Given the description of an element on the screen output the (x, y) to click on. 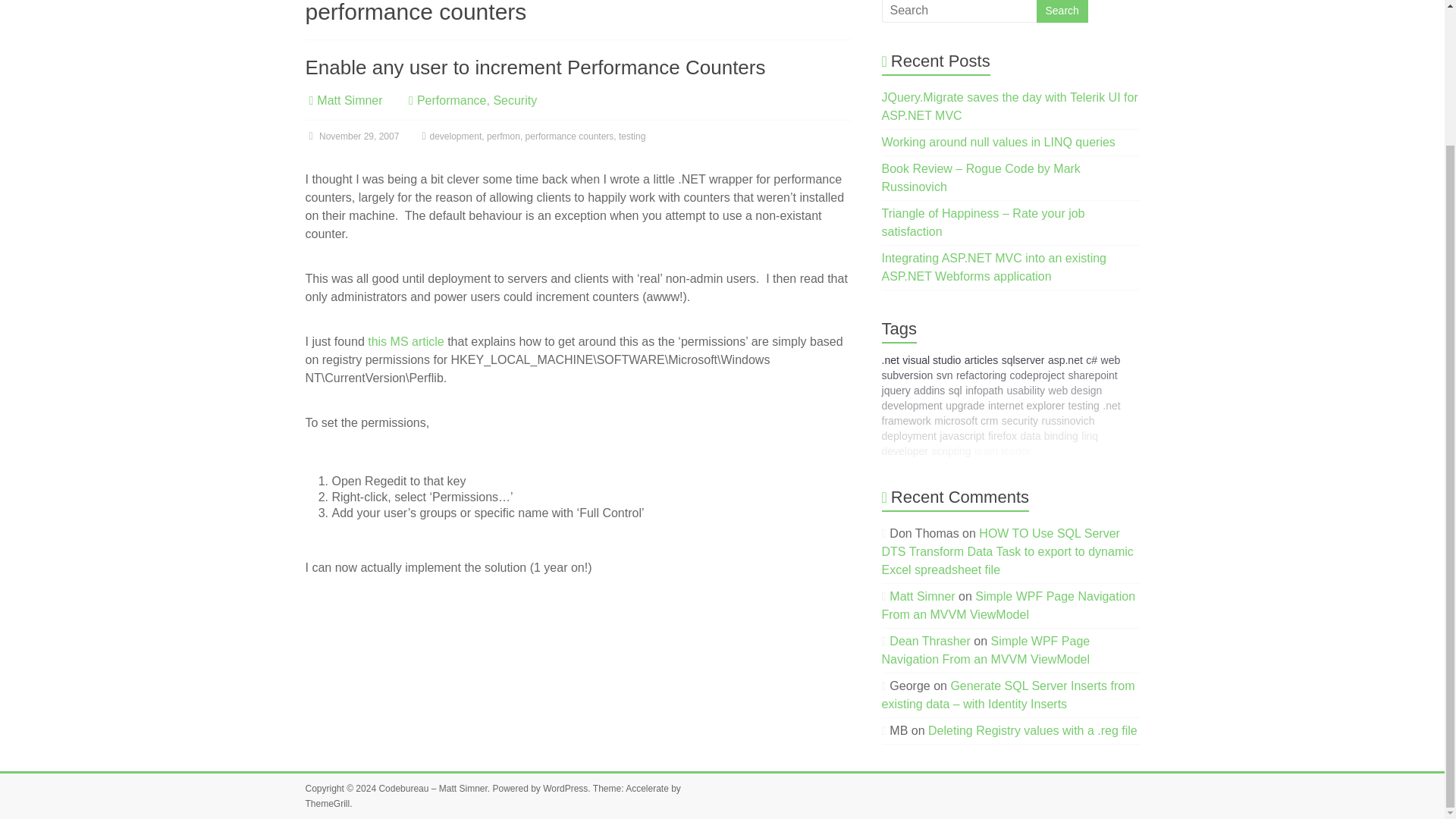
development (455, 136)
.net (890, 359)
Enable any user to increment Performance Counters (534, 67)
visual studio (931, 359)
ThemeGrill (326, 803)
jquery (896, 390)
Security (515, 100)
11:17 pm (351, 136)
testing (631, 136)
this MS article (406, 341)
refactoring (981, 375)
JQuery.Migrate saves the day with Telerik UI for ASP.NET MVC (1010, 106)
articles (980, 359)
codeproject (1037, 375)
